Given the description of an element on the screen output the (x, y) to click on. 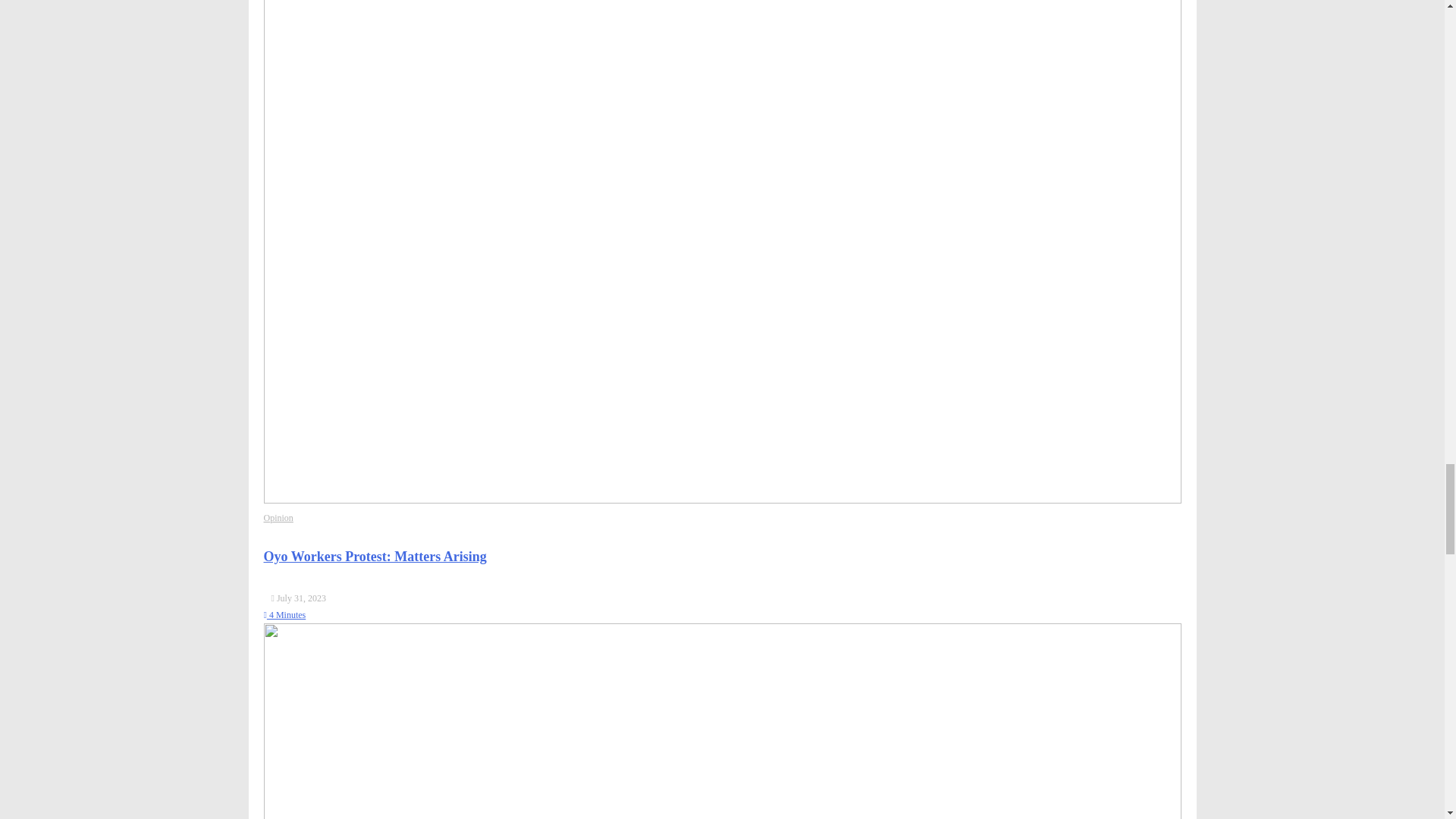
Estimated Reading Time of Article (284, 614)
